Given the description of an element on the screen output the (x, y) to click on. 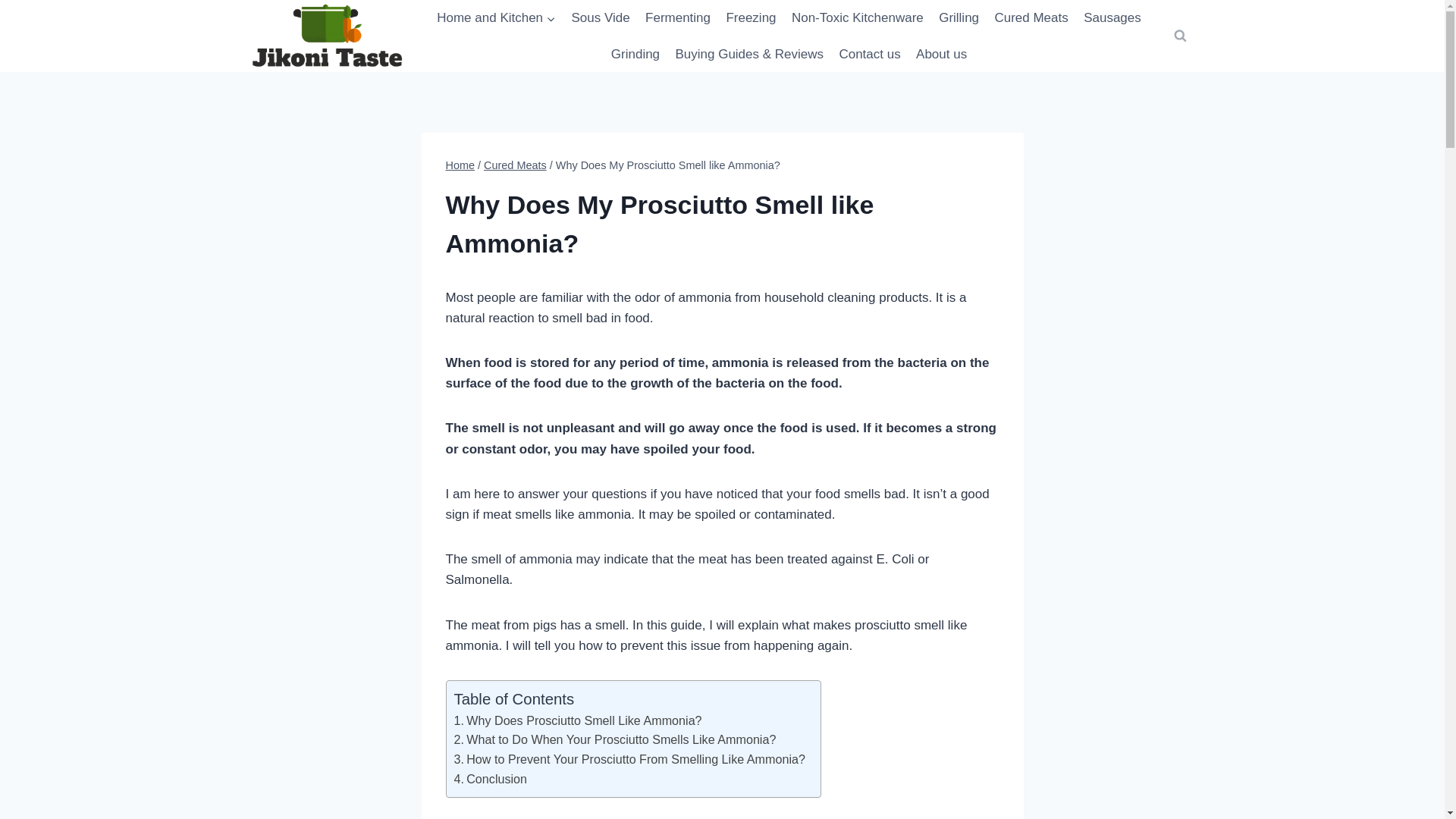
Sausages (1111, 18)
Cured Meats (515, 164)
Freezing (750, 18)
Grilling (959, 18)
About us (941, 54)
Conclusion (489, 778)
Grinding (636, 54)
Why Does Prosciutto Smell Like Ammonia? (576, 720)
Cured Meats (1031, 18)
Home (460, 164)
Sous Vide (600, 18)
How to Prevent Your Prosciutto From Smelling Like Ammonia? (628, 758)
How to Prevent Your Prosciutto From Smelling Like Ammonia? (628, 758)
Fermenting (677, 18)
What to Do When Your Prosciutto Smells Like Ammonia? (614, 739)
